Given the description of an element on the screen output the (x, y) to click on. 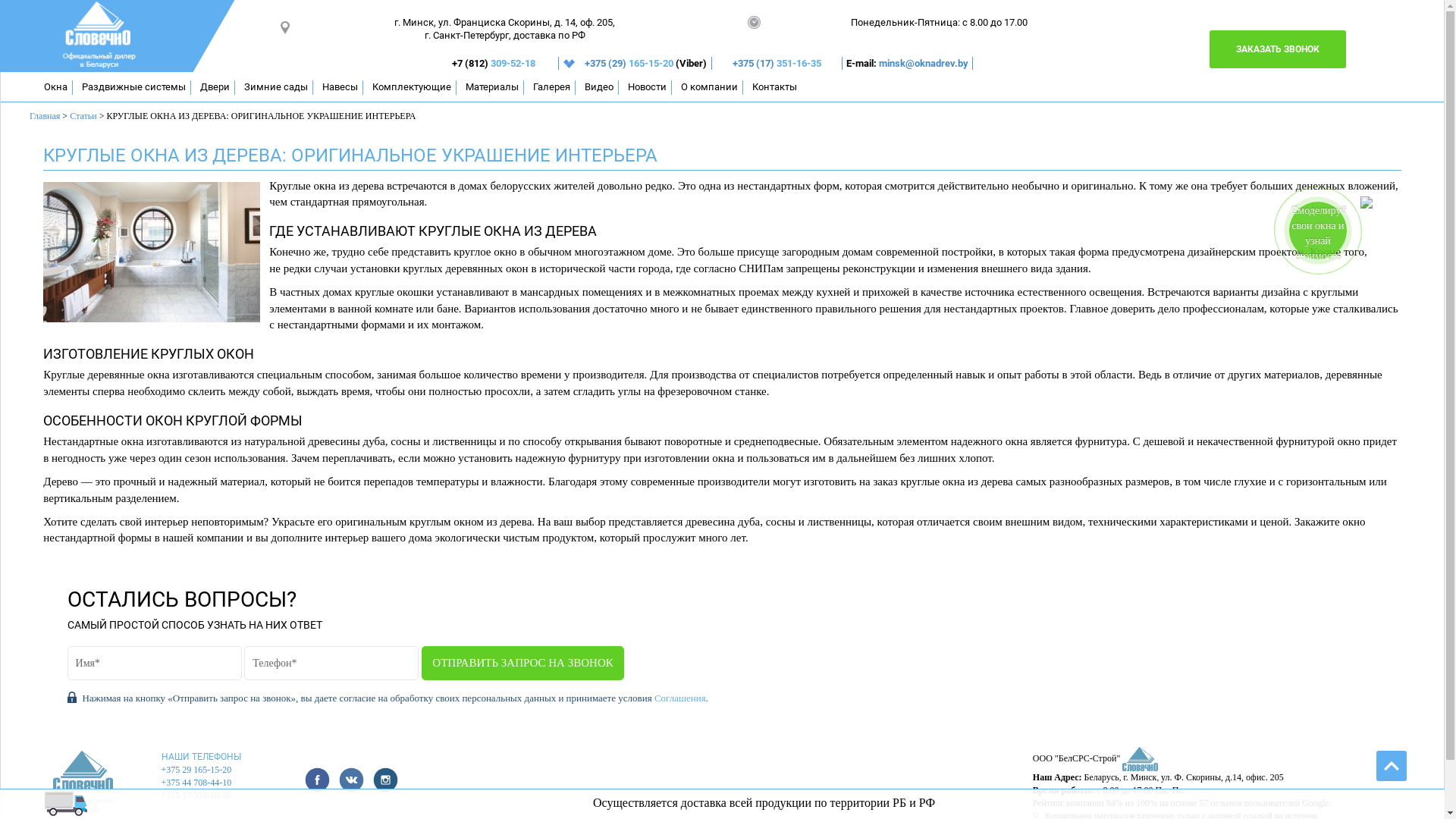
Vk Element type: hover (351, 779)
+375 44 708-44-10 Element type: text (196, 782)
+375 17 351-16-35 Element type: text (196, 795)
Facebook Element type: hover (317, 779)
+375 (29) 165-15-20 Element type: text (629, 63)
minsk@oknadrev.by Element type: text (923, 63)
+375 (17) 351-16-35 Element type: text (776, 63)
instagram Element type: hover (385, 779)
(XX)-XXX-XX-XX Element type: hover (331, 663)
+375 29 165-15-20 Element type: text (196, 769)
